Given the description of an element on the screen output the (x, y) to click on. 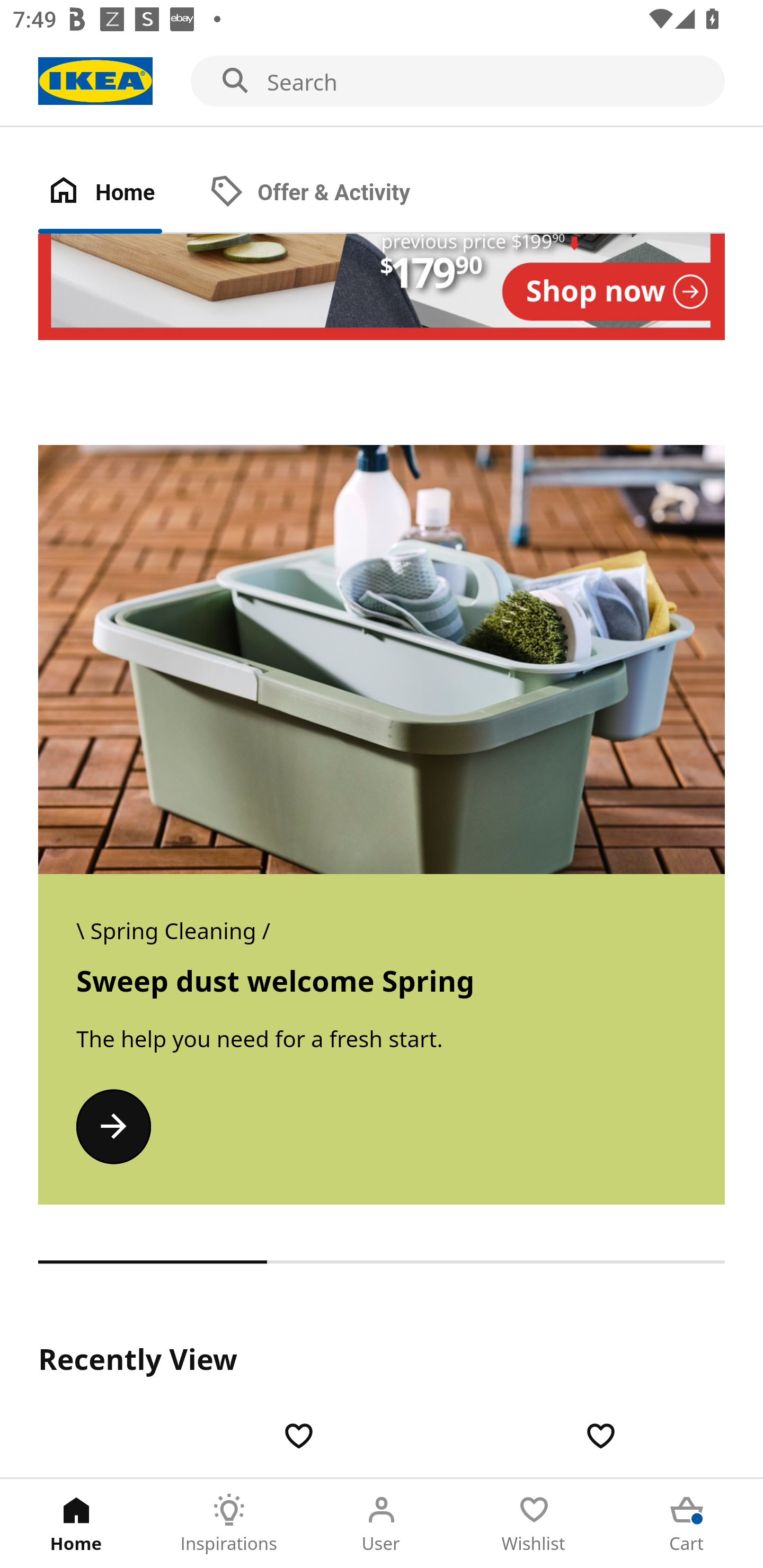
Search (381, 81)
Home
Tab 1 of 2 (118, 192)
Offer & Activity
Tab 2 of 2 (327, 192)
Home
Tab 1 of 5 (76, 1522)
Inspirations
Tab 2 of 5 (228, 1522)
User
Tab 3 of 5 (381, 1522)
Wishlist
Tab 4 of 5 (533, 1522)
Cart
Tab 5 of 5 (686, 1522)
